Given the description of an element on the screen output the (x, y) to click on. 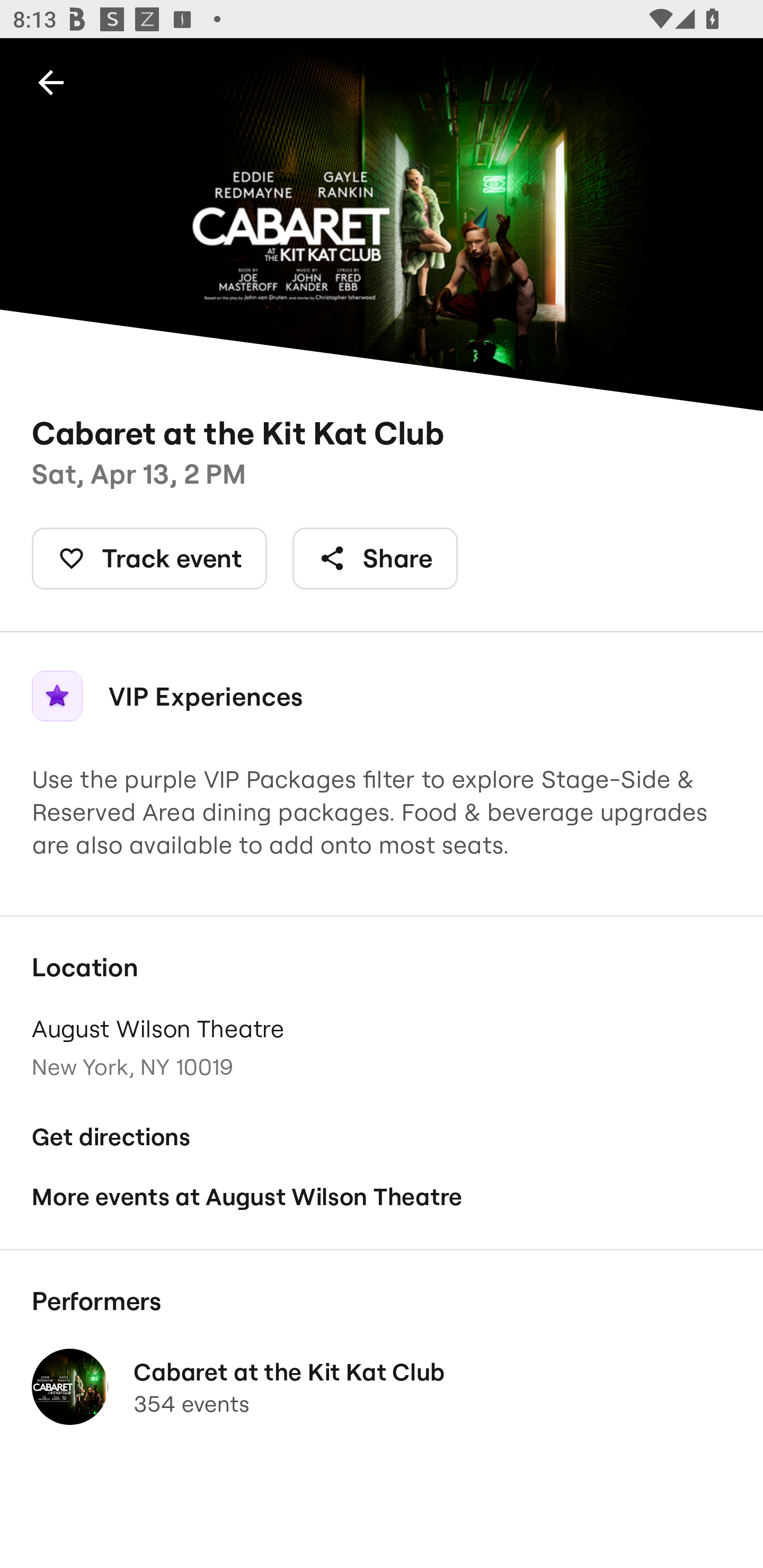
Back (50, 81)
Track event (149, 557)
Share (374, 557)
Get directions (381, 1136)
More events at August Wilson Theatre (381, 1196)
Cabaret at the Kit Kat Club 354 events (381, 1386)
